Given the description of an element on the screen output the (x, y) to click on. 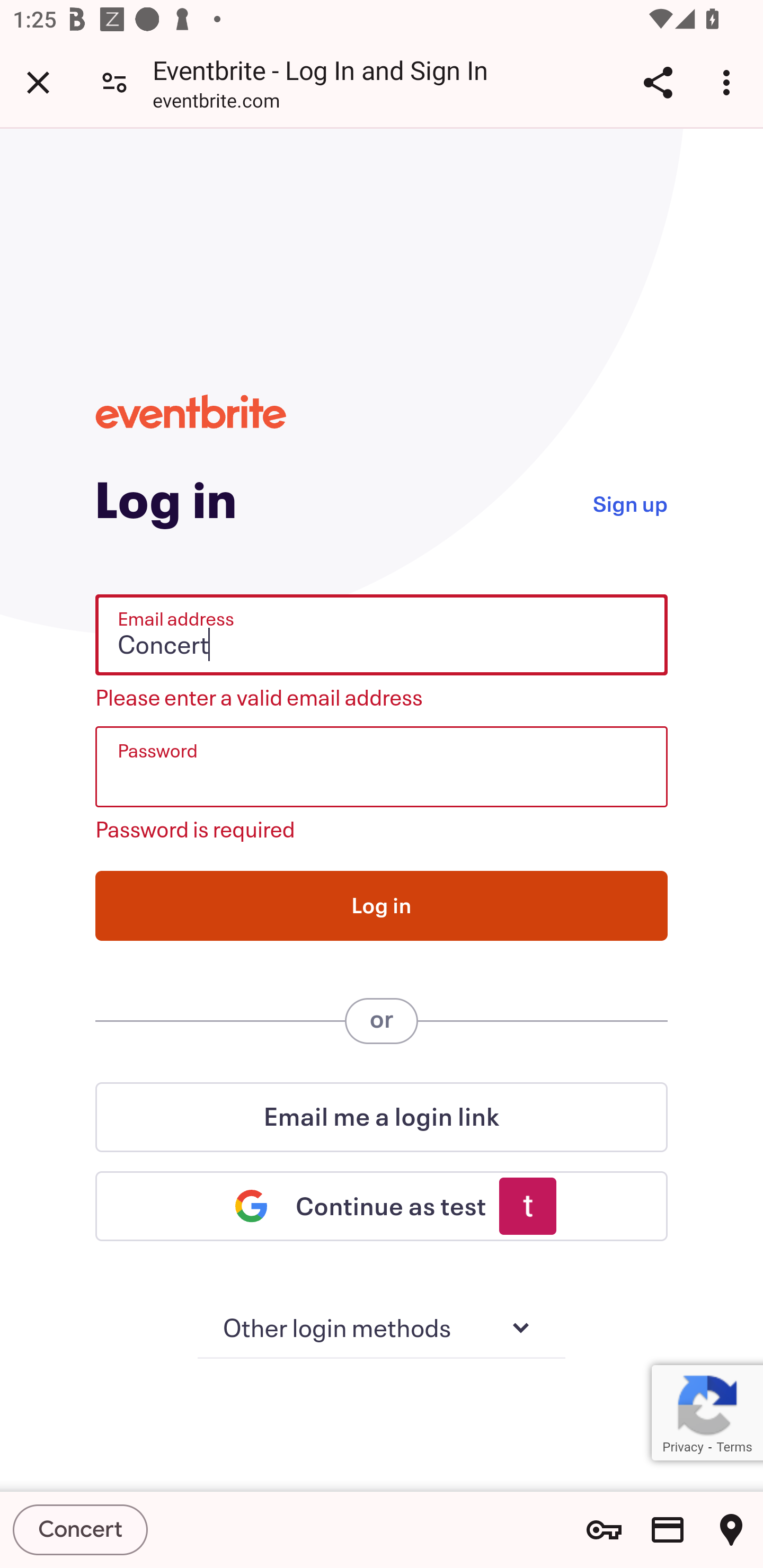
Search Amazon (440, 80)
Back (35, 78)
